Given the description of an element on the screen output the (x, y) to click on. 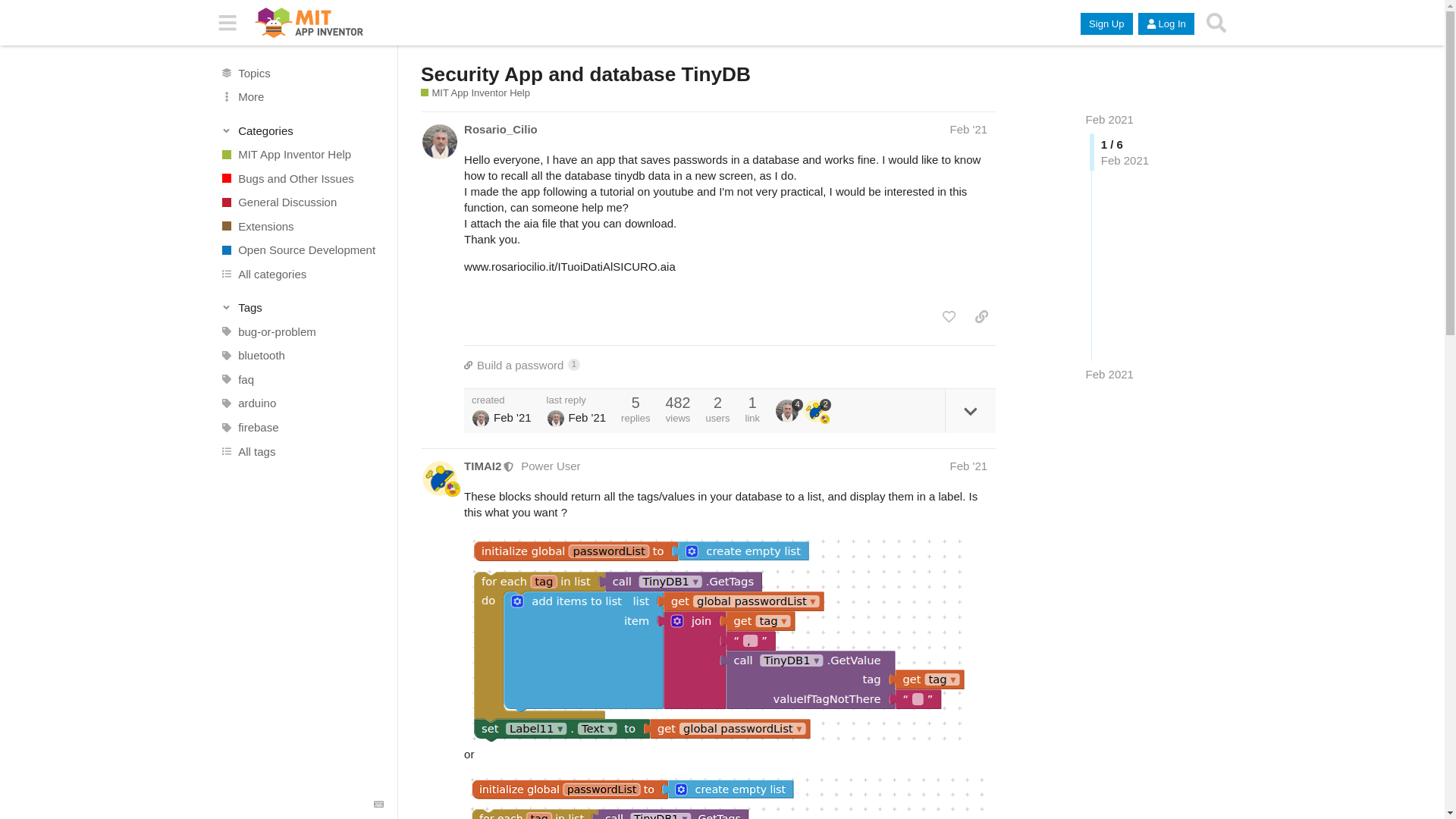
Topics (301, 72)
General Discussion (301, 202)
arduino (301, 403)
All tags (301, 450)
Security App and database TinyDB (585, 74)
MIT App Inventor Help (301, 154)
Extensions (729, 365)
